Given the description of an element on the screen output the (x, y) to click on. 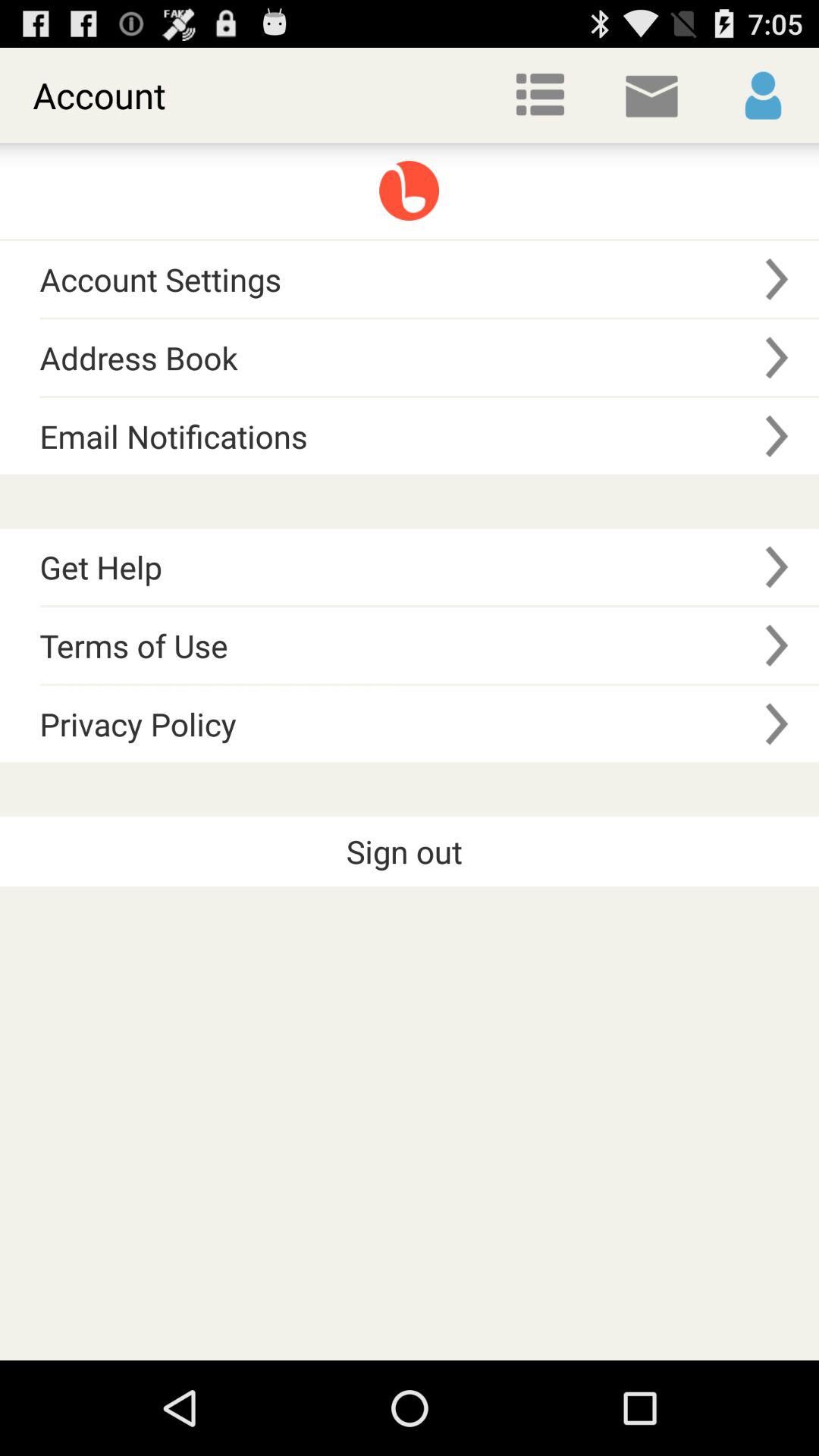
tap the sign out item (409, 851)
